Given the description of an element on the screen output the (x, y) to click on. 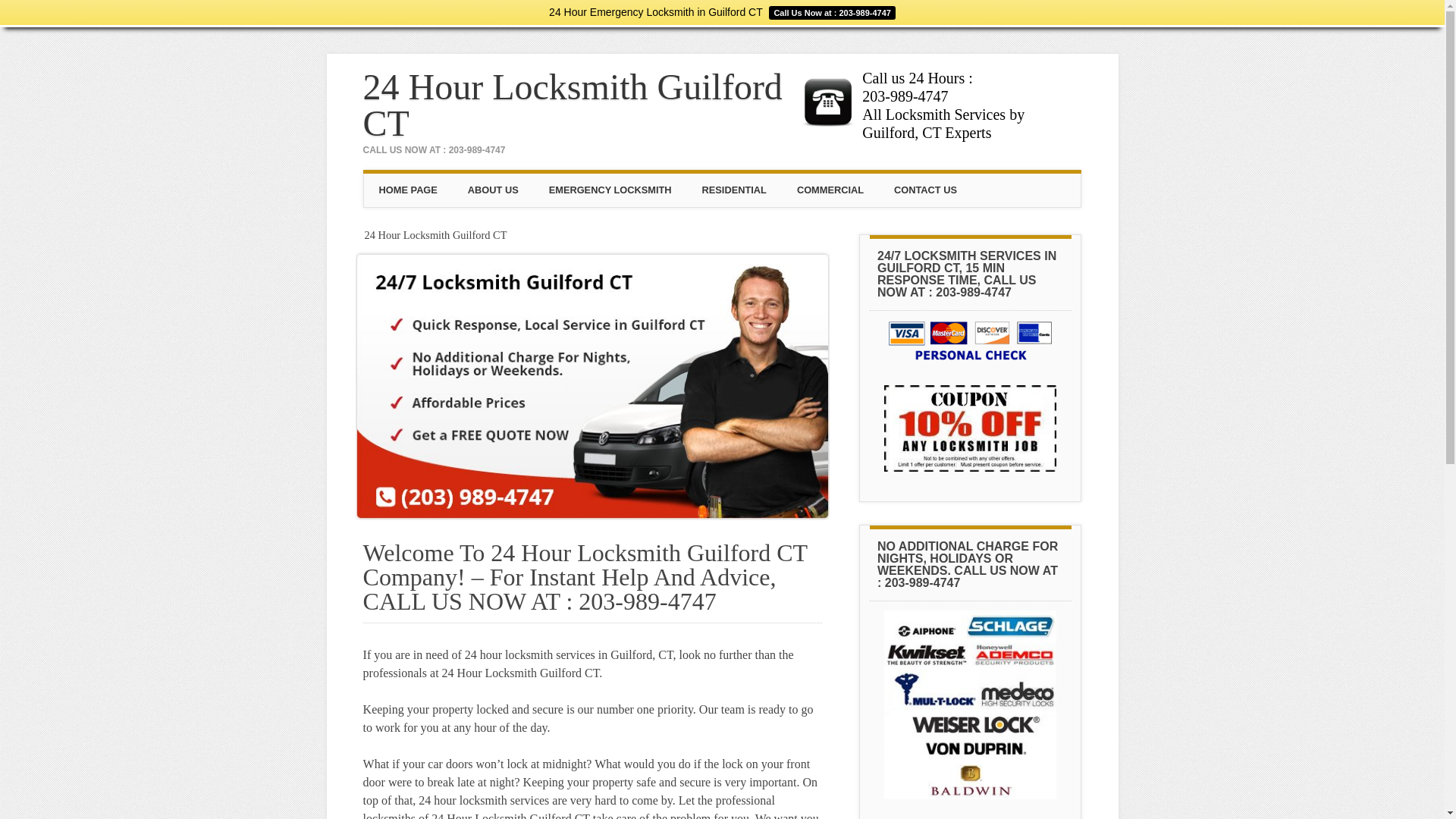
RESIDENTIAL Element type: text (734, 190)
24 Hour Locksmith Guilford CT Element type: text (572, 104)
HOME PAGE Element type: text (408, 190)
COMMERCIAL Element type: text (829, 190)
ABOUT US Element type: text (492, 190)
EMERGENCY LOCKSMITH Element type: text (610, 190)
CONTACT US Element type: text (925, 190)
Call Us Now at : 203-989-4747 Element type: text (829, 12)
